Given the description of an element on the screen output the (x, y) to click on. 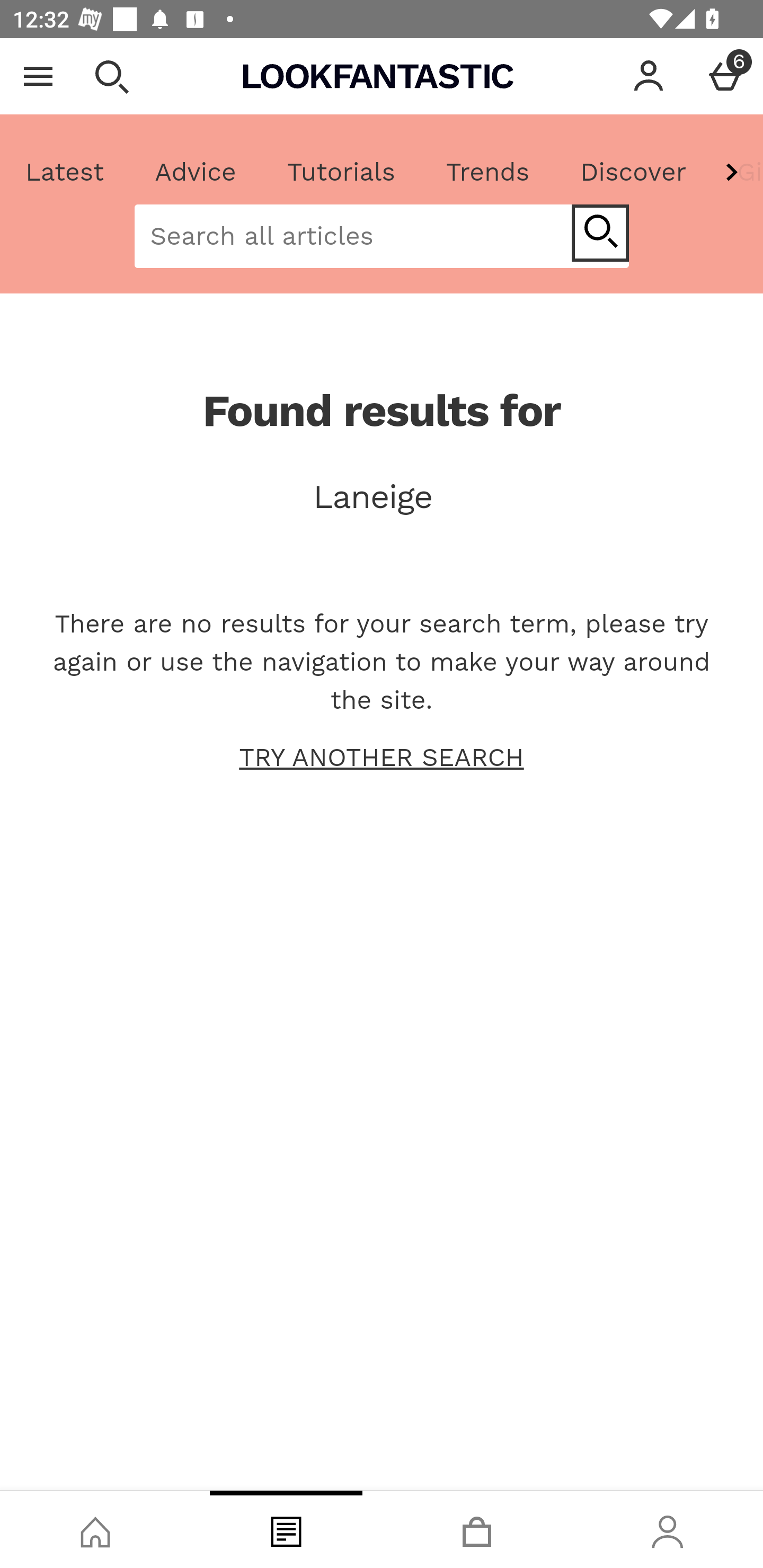
Open Menu (38, 75)
Open search (111, 75)
Account (648, 75)
Basket Menu (724, 75)
Lookfantastic USA Home page (378, 76)
Latest (65, 172)
Advice (195, 172)
Tutorials (340, 172)
Trends (486, 172)
Discover (632, 172)
Gift Guide (736, 172)
start article search (599, 232)
Laneige (381, 496)
TRY ANOTHER SEARCH (381, 757)
Shop, tab, 1 of 4 (95, 1529)
Blog, tab, 2 of 4 (285, 1529)
Basket, tab, 3 of 4 (476, 1529)
Account, tab, 4 of 4 (667, 1529)
